Given the description of an element on the screen output the (x, y) to click on. 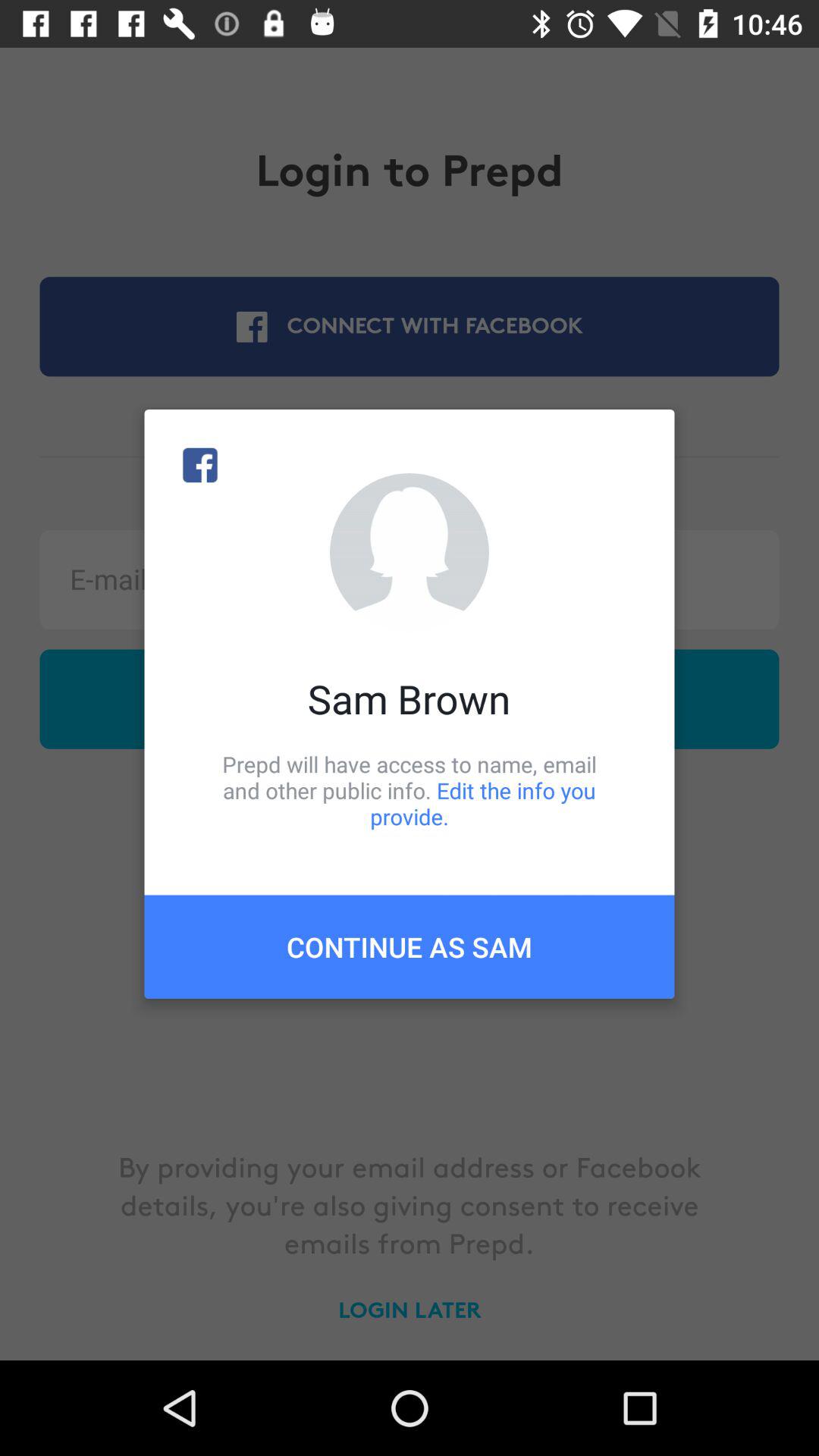
click icon below the prepd will have item (409, 946)
